Given the description of an element on the screen output the (x, y) to click on. 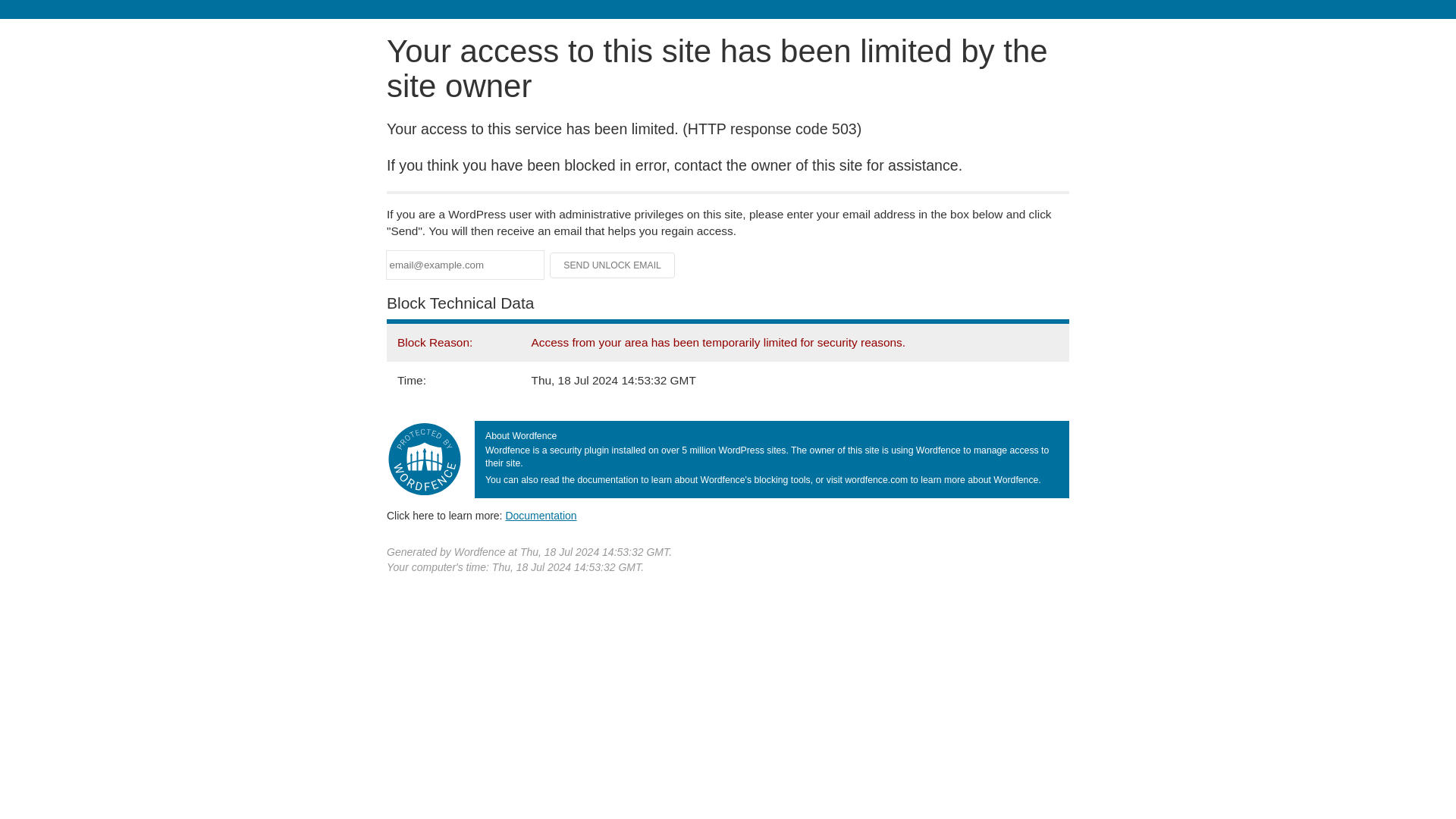
Send Unlock Email (612, 265)
Documentation (540, 515)
Send Unlock Email (612, 265)
